Given the description of an element on the screen output the (x, y) to click on. 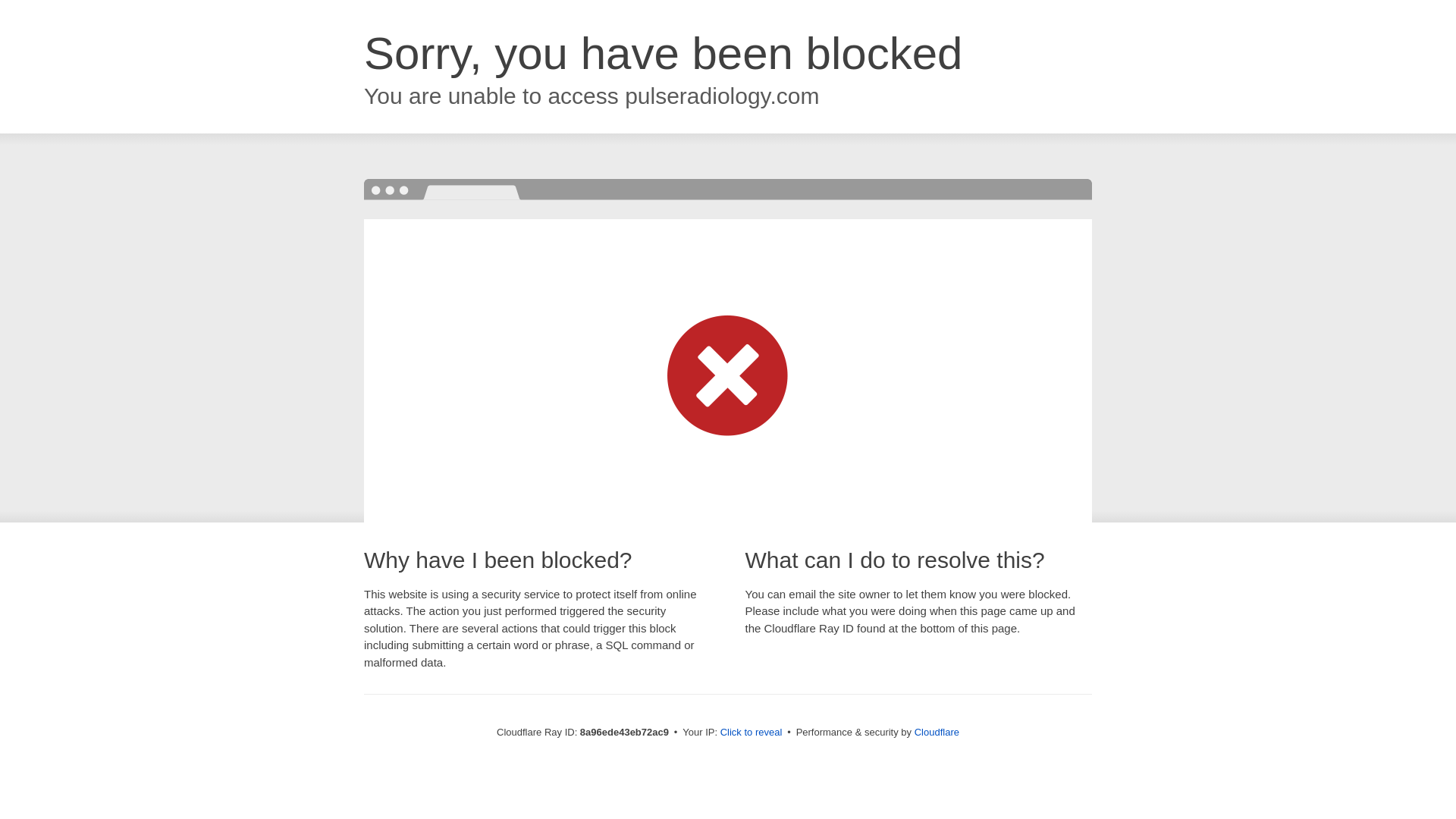
Cloudflare (936, 731)
Click to reveal (751, 732)
